Given the description of an element on the screen output the (x, y) to click on. 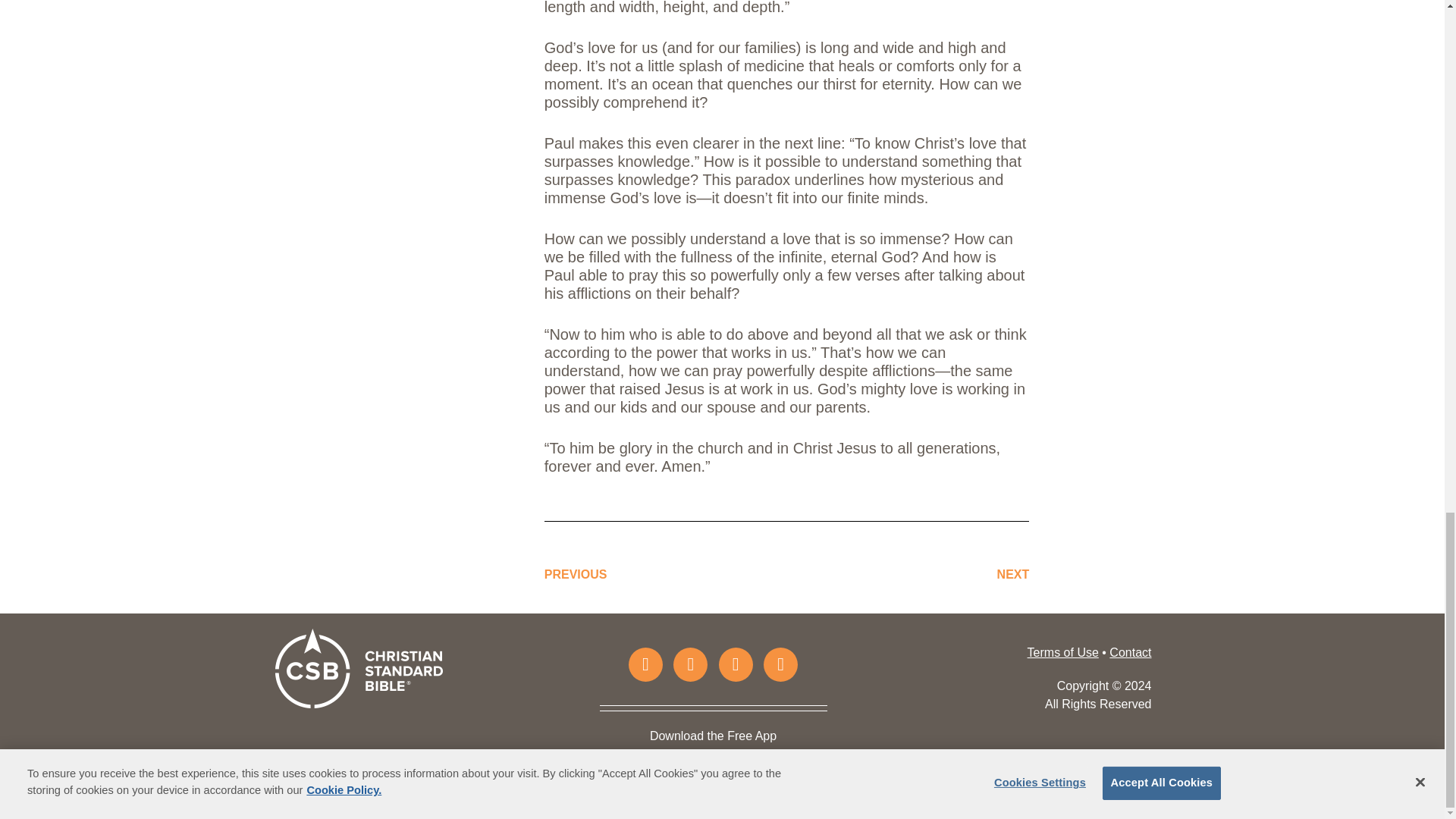
NEXT (1013, 574)
PREVIOUS (575, 574)
